Given the description of an element on the screen output the (x, y) to click on. 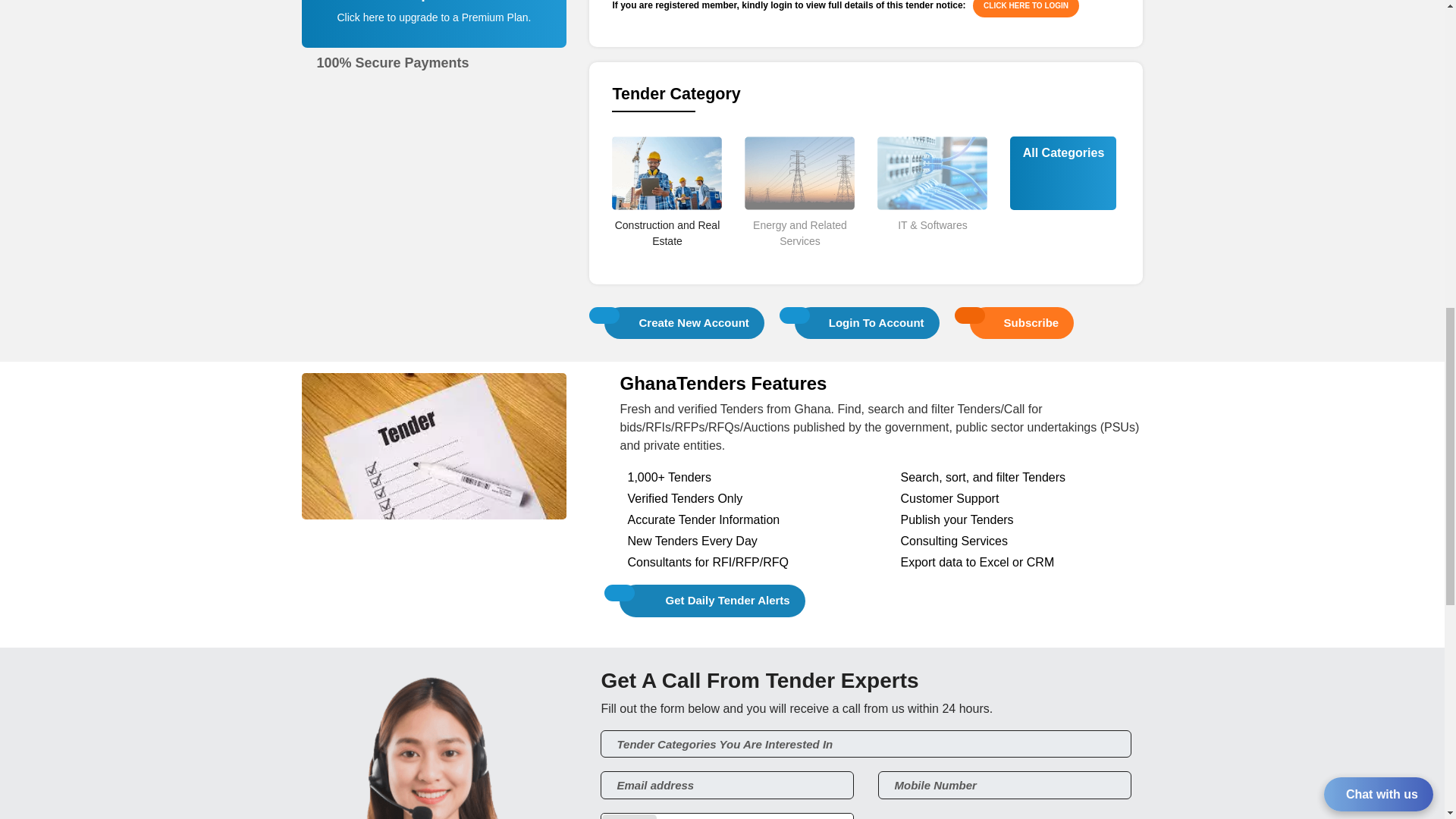
Subscribe (1022, 322)
CLICK HERE TO LOGIN (1025, 8)
Create New Account (684, 322)
Energy and Related Services (799, 259)
Construction and Real Estate (666, 259)
Get Daily Tender Alerts (712, 600)
Login To Account (866, 322)
All Categories (1062, 153)
Subscription Plans (434, 31)
Click here to upgrade to a Premium Plan. (433, 16)
